Given the description of an element on the screen output the (x, y) to click on. 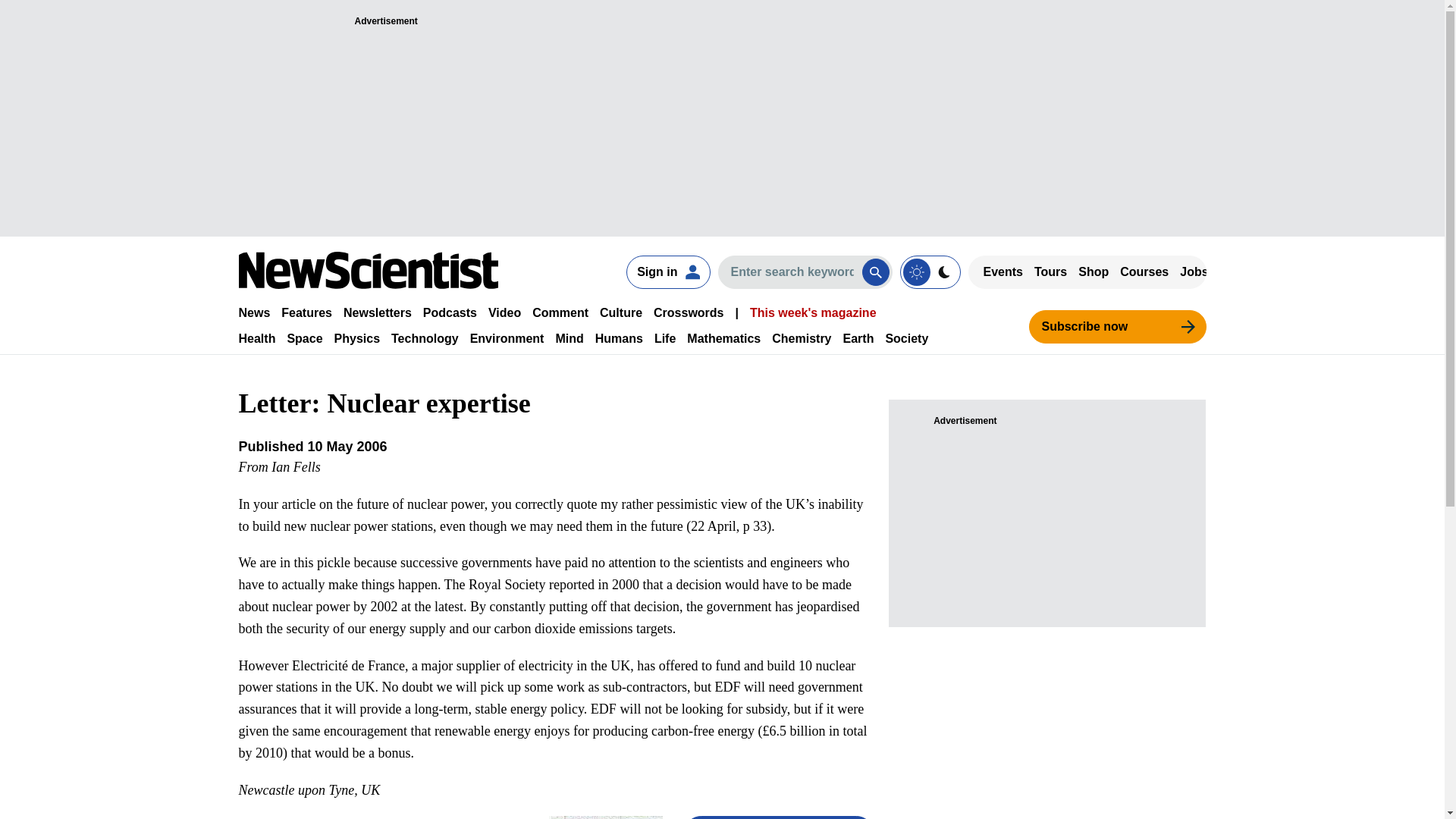
Link to the homepage (367, 270)
Culture (620, 313)
Mathematics (723, 338)
News (253, 313)
Society (906, 338)
This week's magazine (812, 313)
Space (303, 338)
Comment (560, 313)
Earth (859, 338)
Mind (568, 338)
